Given the description of an element on the screen output the (x, y) to click on. 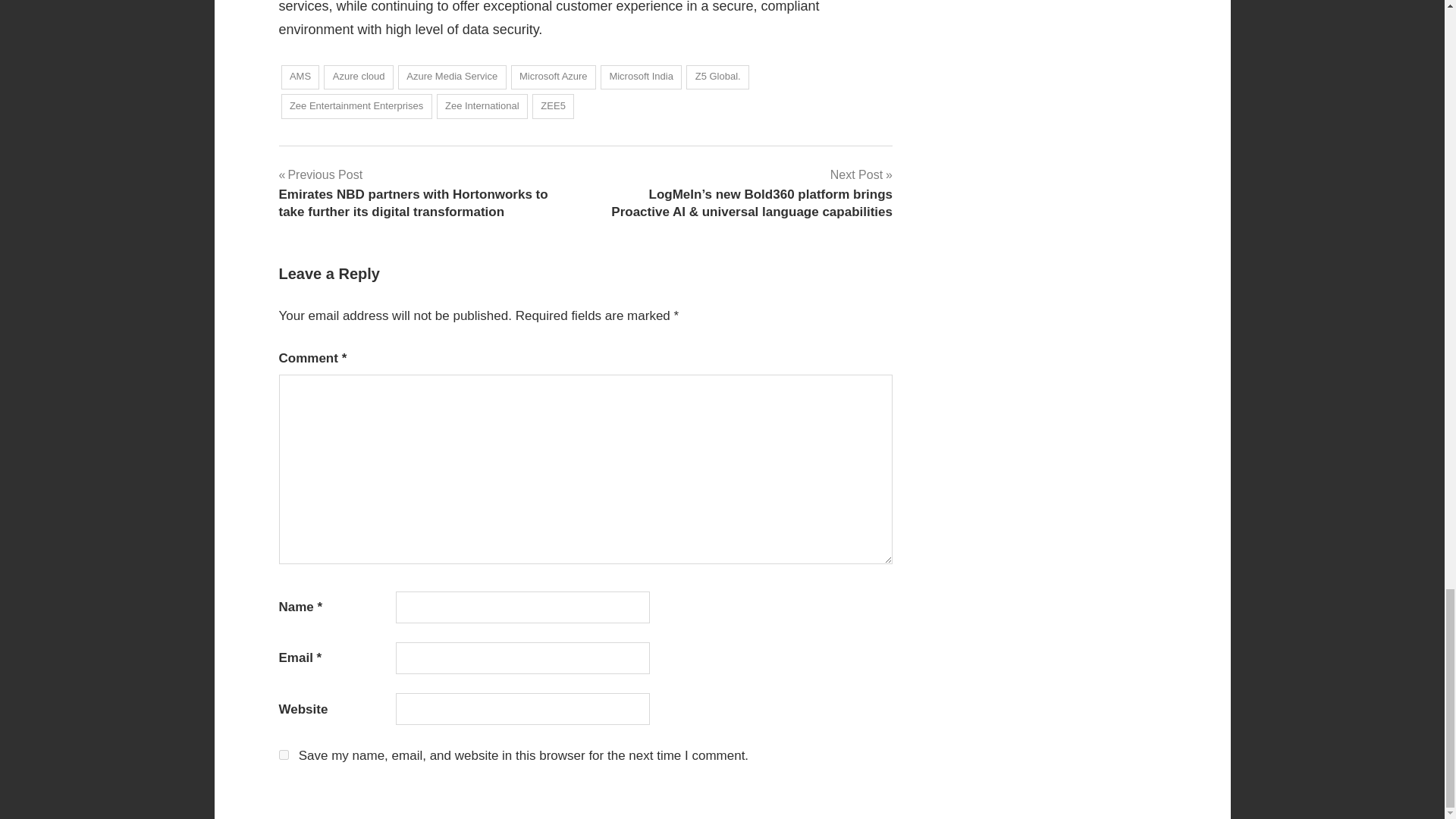
Azure cloud (358, 77)
Microsoft India (640, 77)
ZEE5 (552, 106)
Zee International (481, 106)
yes (283, 755)
Z5 Global. (717, 77)
Microsoft Azure (553, 77)
Zee Entertainment Enterprises (355, 106)
Azure Media Service (451, 77)
